Given the description of an element on the screen output the (x, y) to click on. 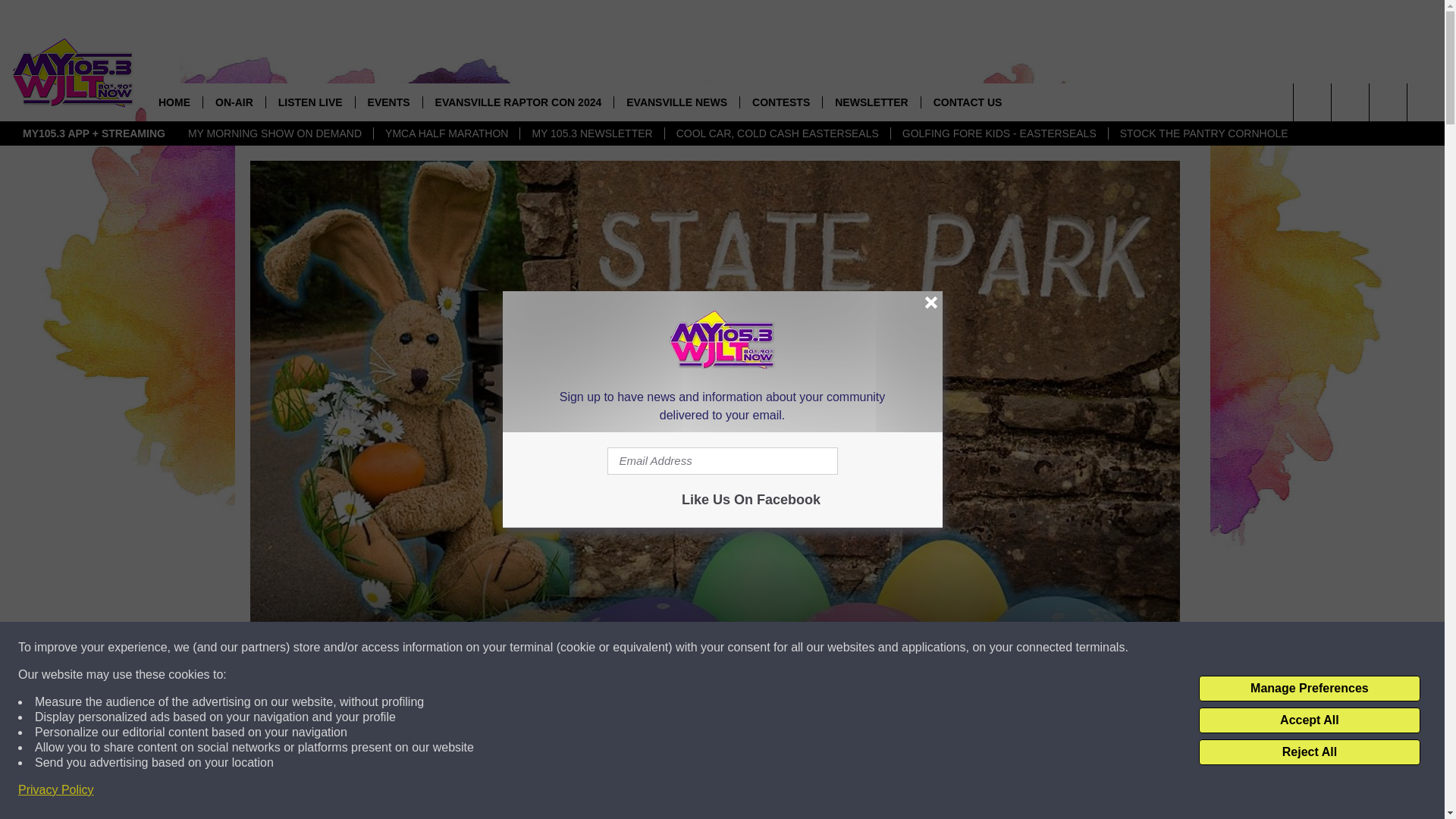
Share on Facebook (517, 791)
Email Address (722, 461)
EVENTS (388, 102)
STOCK THE PANTRY CORNHOLE (1204, 133)
GOLFING FORE KIDS - EASTERSEALS (998, 133)
MY MORNING SHOW ON DEMAND (274, 133)
COOL CAR, COLD CASH EASTERSEALS (776, 133)
Privacy Policy (55, 789)
Reject All (1309, 751)
Accept All (1309, 720)
HOME (174, 102)
NEWSLETTER (871, 102)
Manage Preferences (1309, 688)
ON-AIR (233, 102)
EVANSVILLE RAPTOR CON 2024 (518, 102)
